Given the description of an element on the screen output the (x, y) to click on. 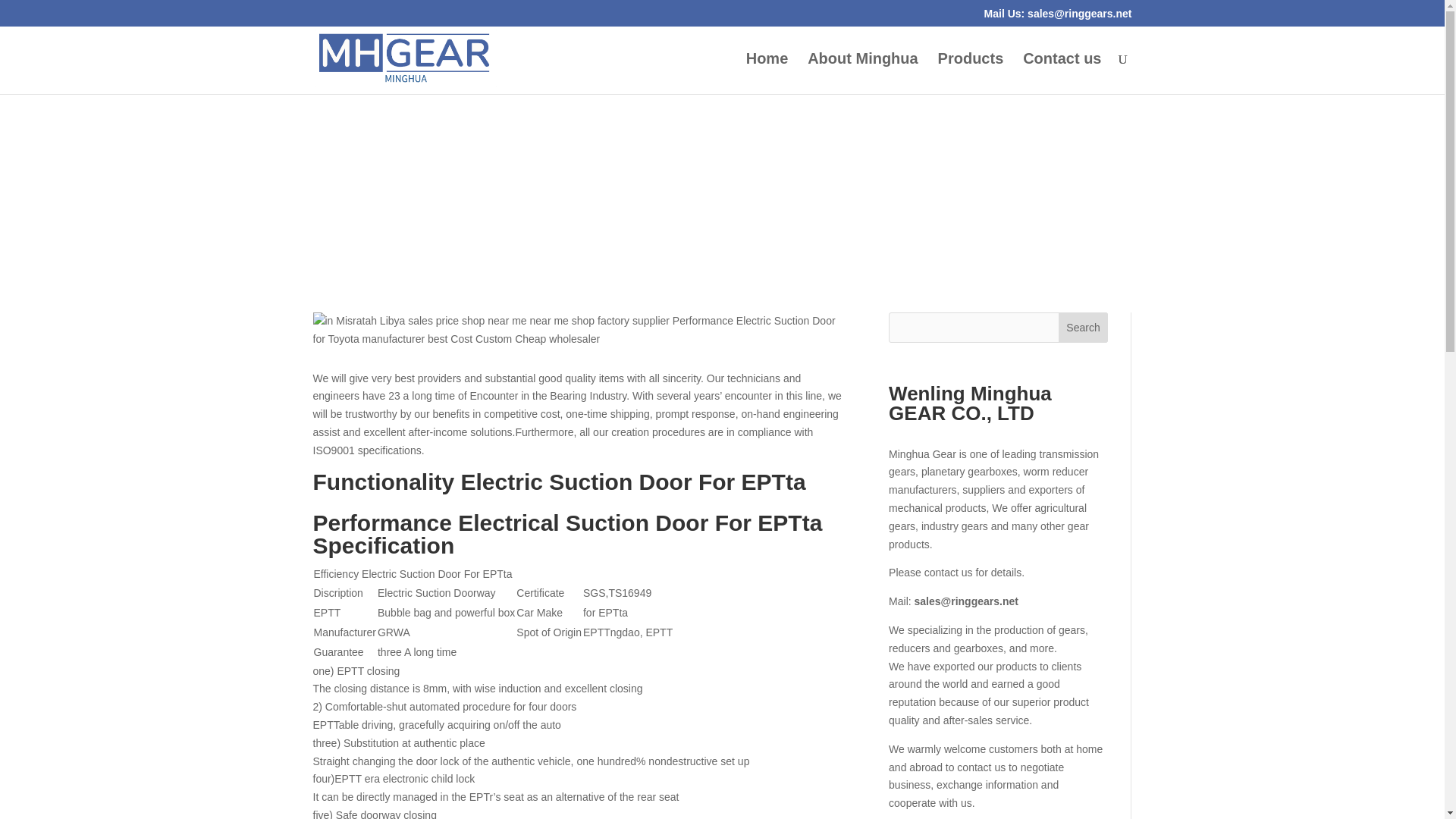
Home (767, 73)
Products (970, 73)
About Minghua (863, 73)
Search (1083, 327)
Contact us (1061, 73)
